Given the description of an element on the screen output the (x, y) to click on. 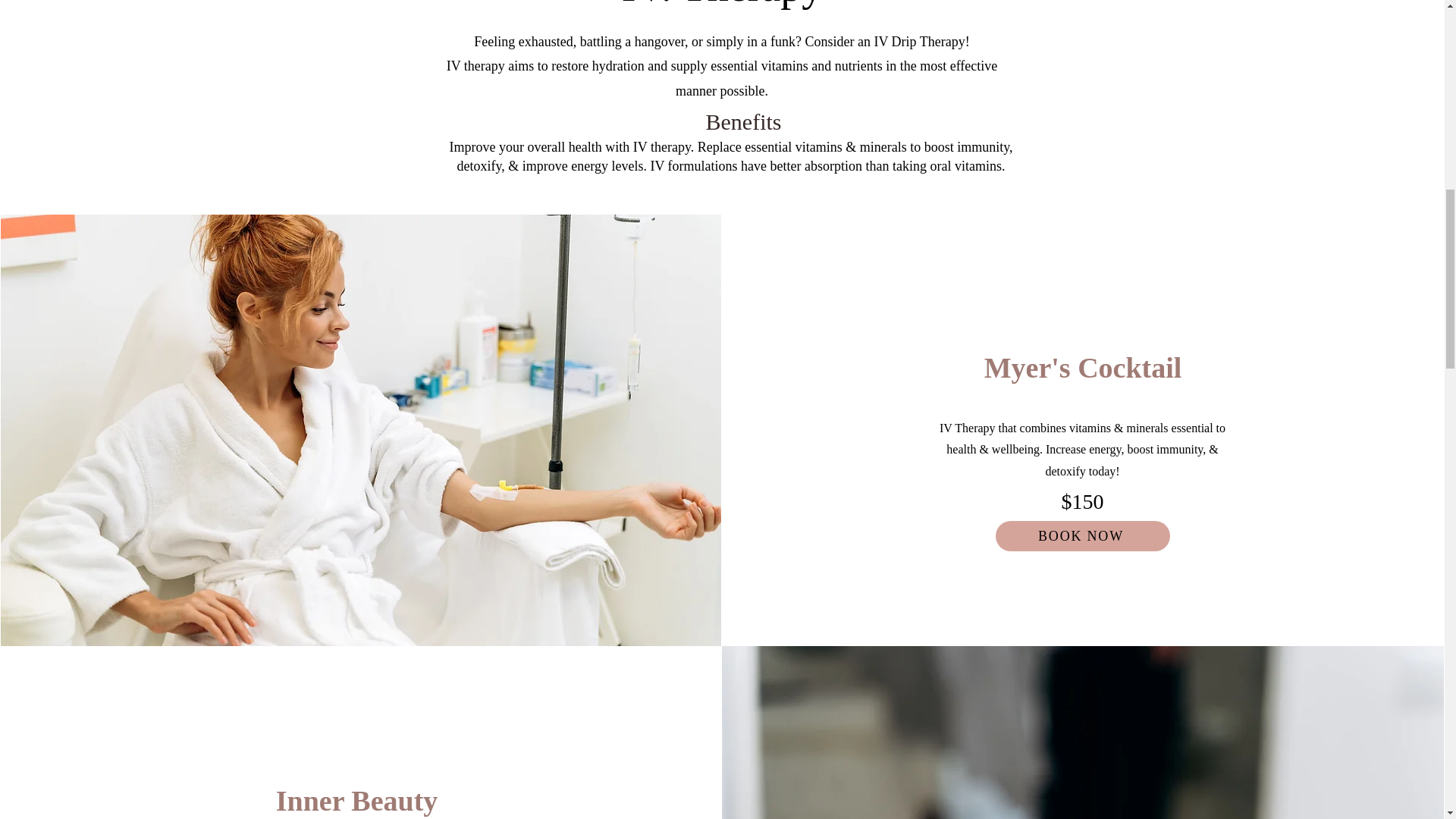
BOOK NOW (1082, 535)
